Given the description of an element on the screen output the (x, y) to click on. 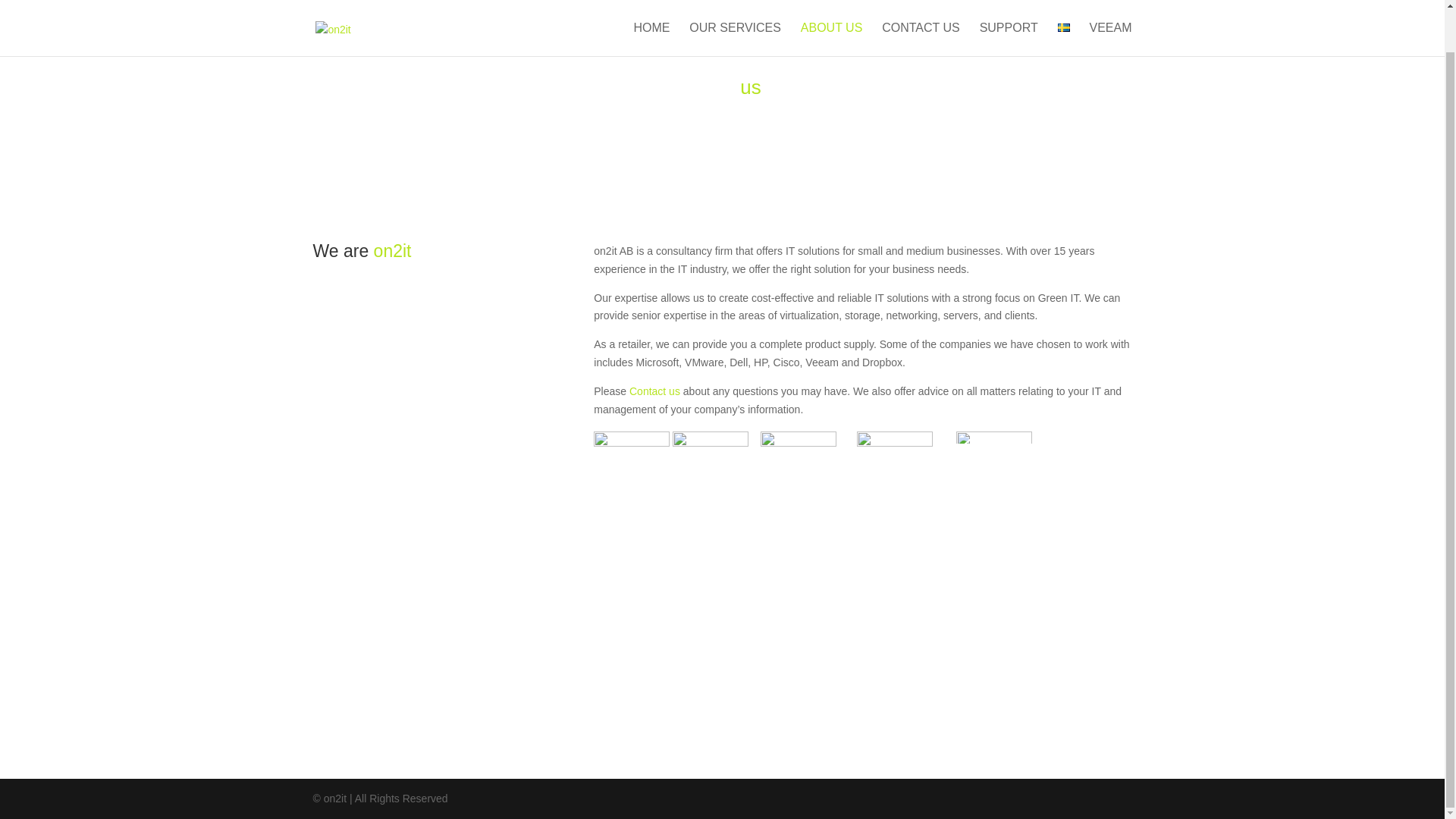
Follow on Facebook (324, 682)
HOME (651, 5)
Contact us (653, 390)
OUR SERVICES (734, 5)
ABOUT US (831, 5)
VEEAM (1110, 5)
SUPPORT (1008, 5)
Follow on LinkedIn (354, 682)
CONTACT US (920, 5)
